Given the description of an element on the screen output the (x, y) to click on. 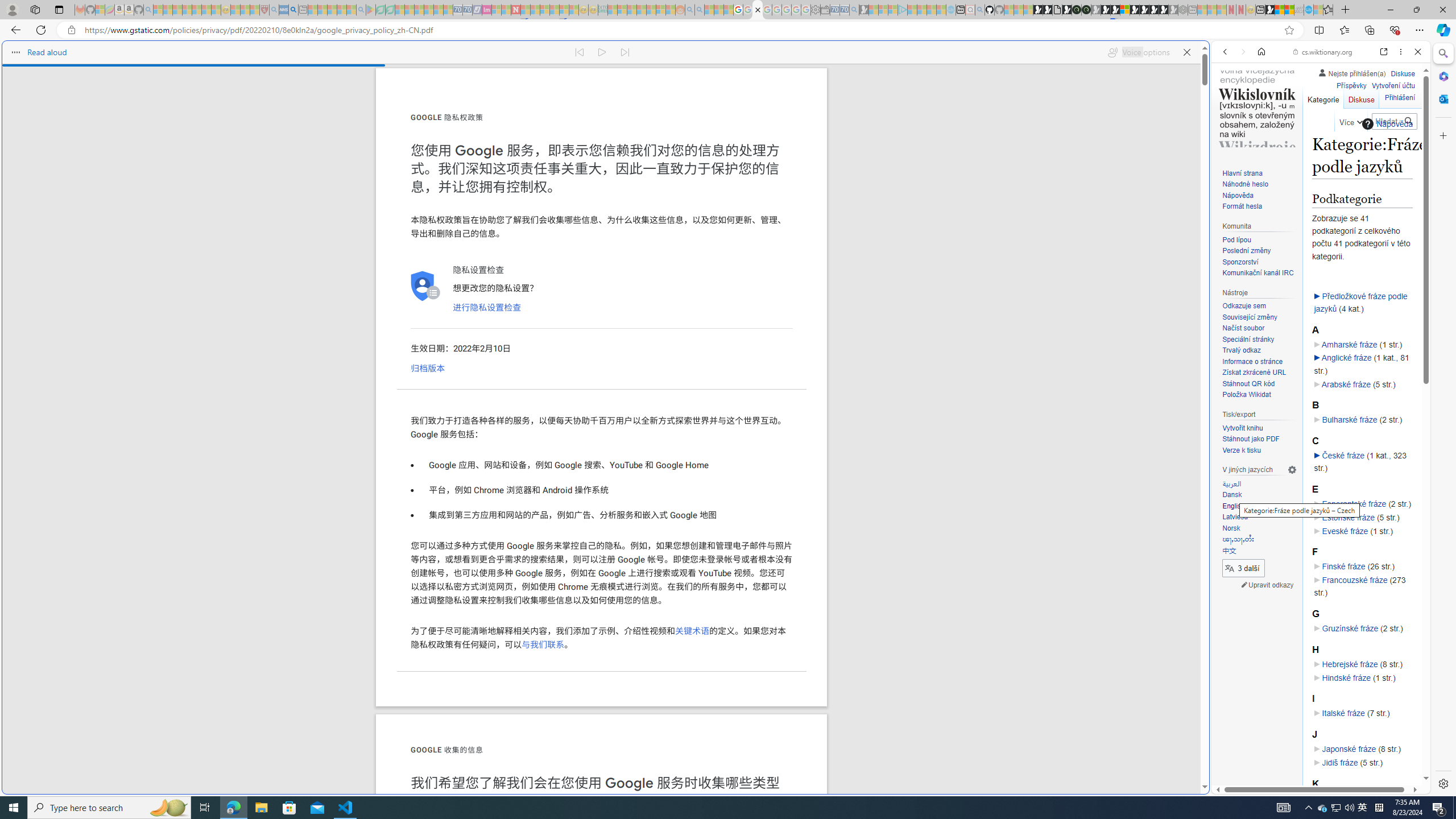
google - Search - Sleeping (360, 9)
Forward (1242, 51)
VIDEOS (1300, 130)
Dansk (1259, 495)
Odkazuje sem (1243, 306)
Play Cave FRVR in your browser | Games from Microsoft Start (1105, 9)
